Given the description of an element on the screen output the (x, y) to click on. 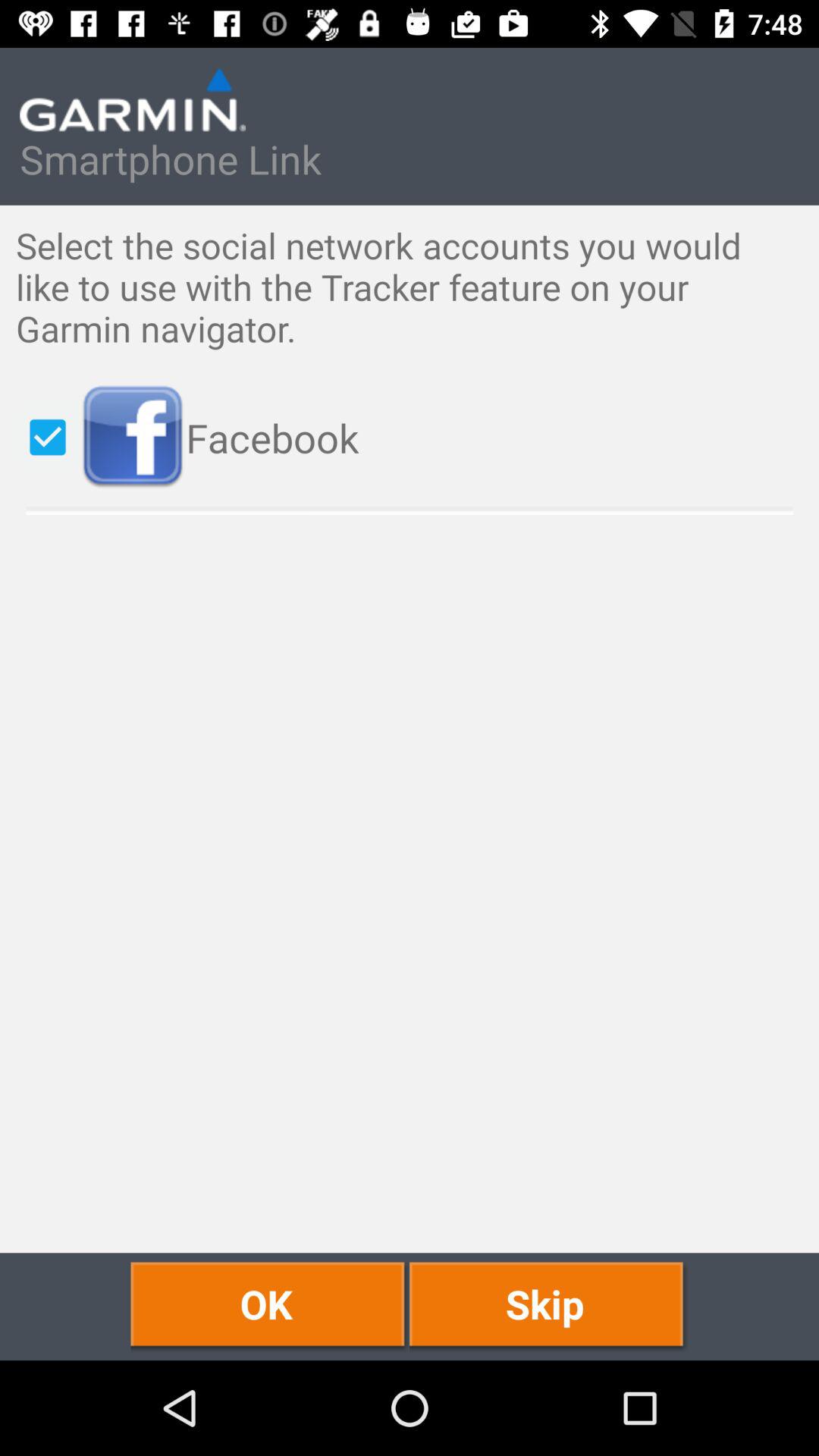
launch item below the facebook (269, 1306)
